Given the description of an element on the screen output the (x, y) to click on. 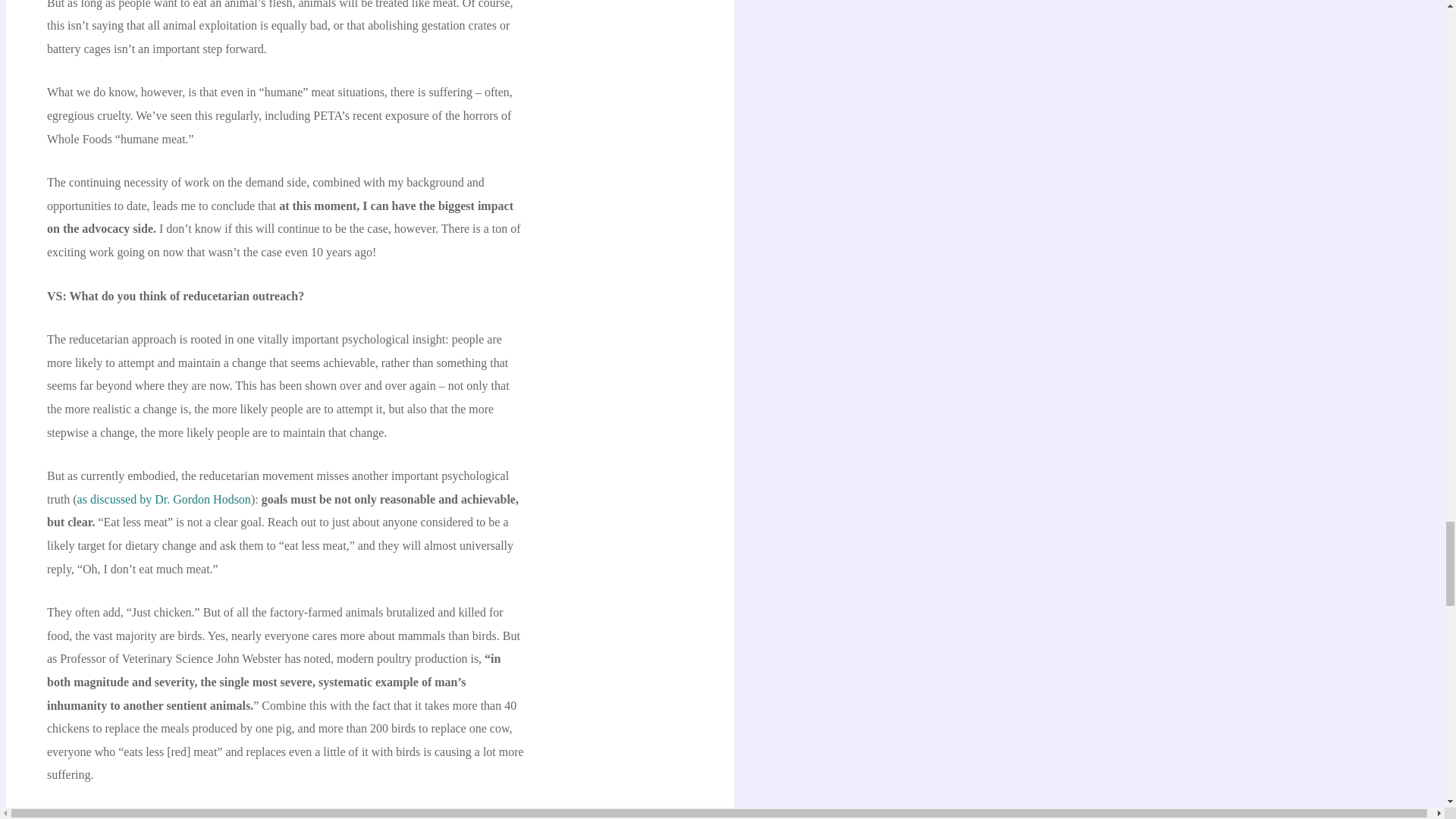
as discussed by Dr. Gordon Hodson (163, 499)
